Given the description of an element on the screen output the (x, y) to click on. 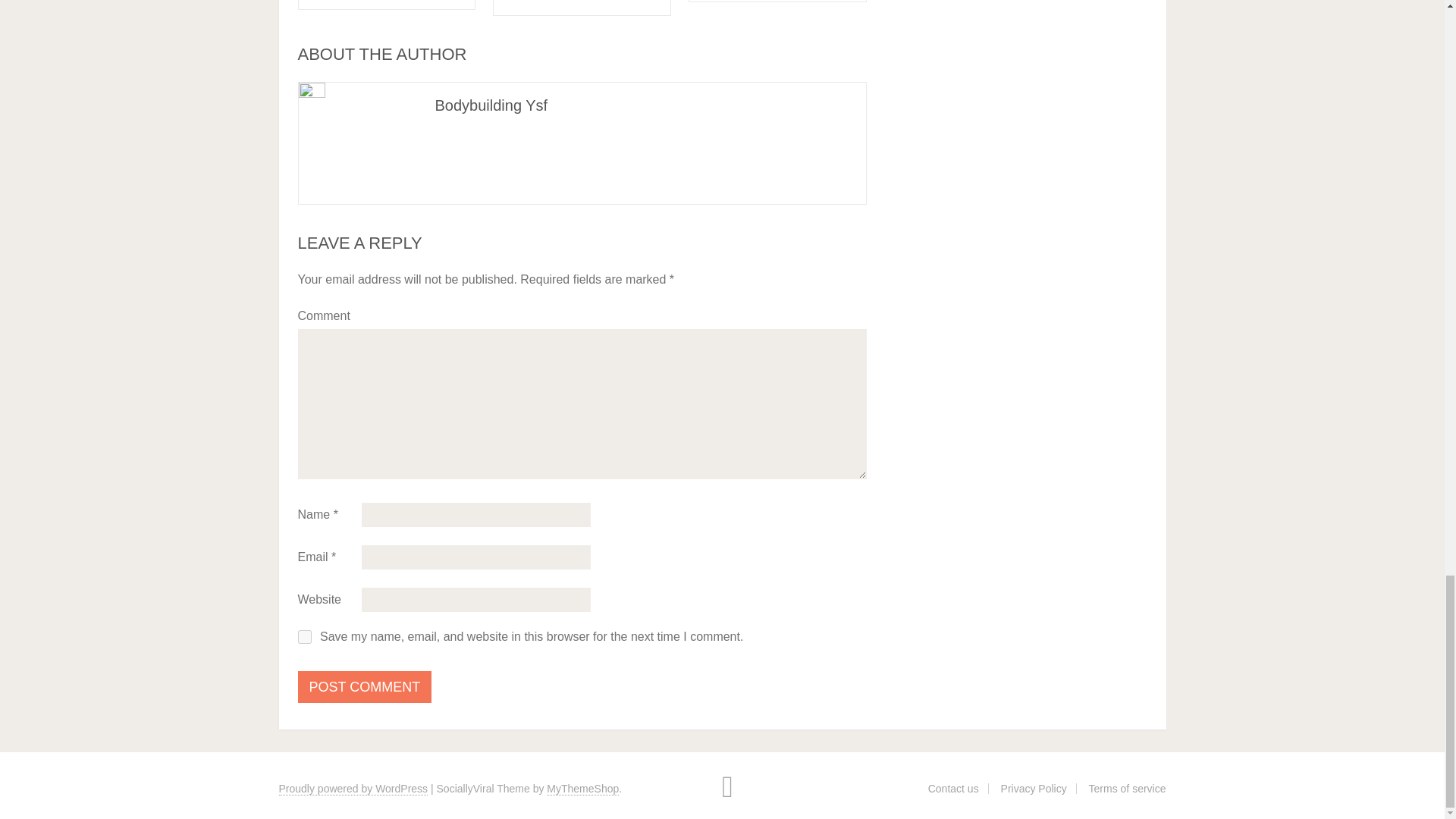
Post Comment (363, 686)
Privacy Policy (1034, 788)
Post Comment (363, 686)
Terms of service (1127, 788)
Bodybuilding Ysf (491, 105)
Contact us (953, 788)
Proudly powered by WordPress (353, 788)
MyThemeShop (582, 788)
yes (304, 636)
